Given the description of an element on the screen output the (x, y) to click on. 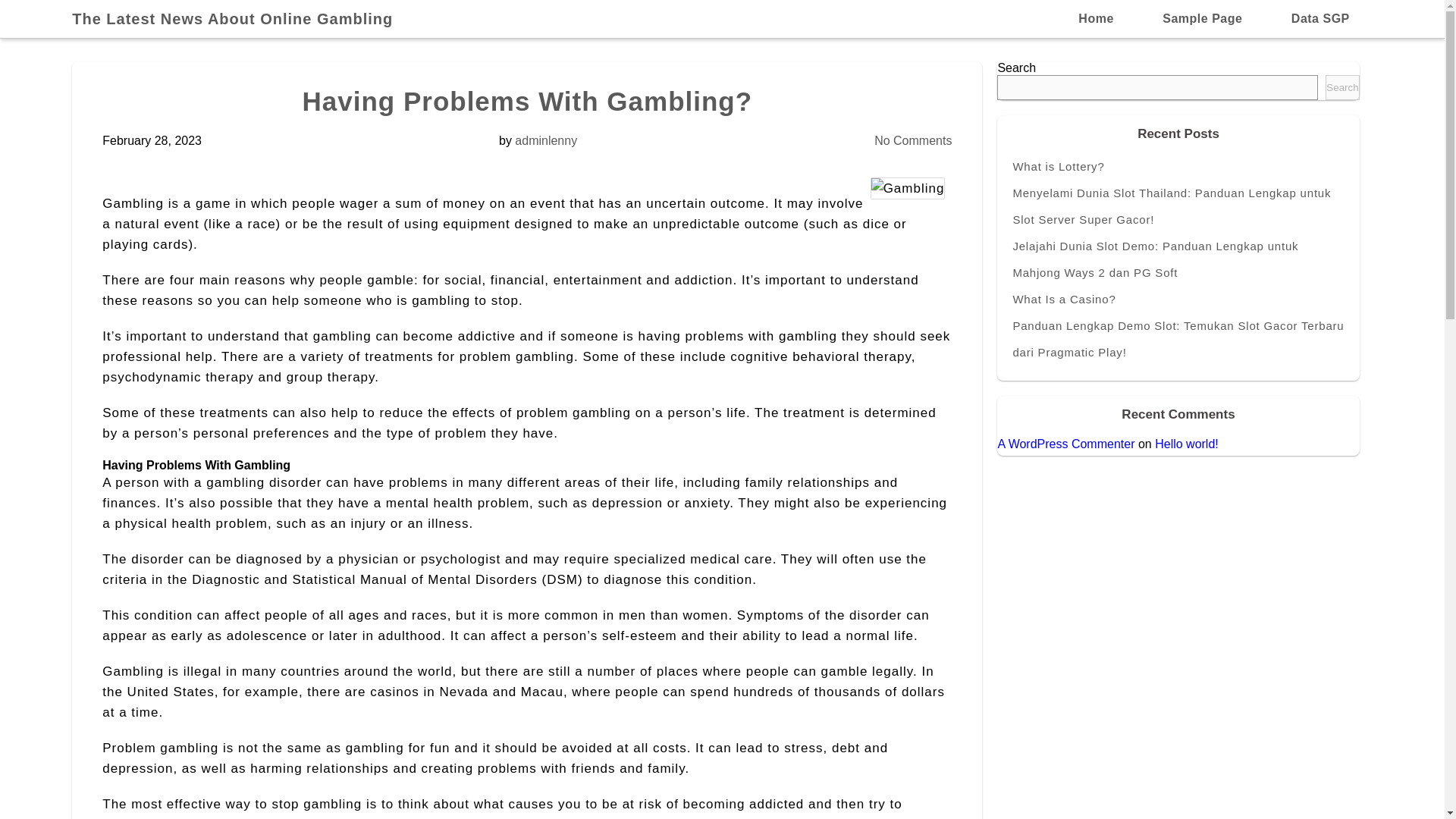
The Latest News About Online Gambling (239, 18)
Posts by adminlenny (545, 140)
What Is a Casino? (1177, 298)
A WordPress Commenter (1065, 443)
Hello world! (1186, 443)
Data SGP (1320, 18)
Sample Page (1201, 18)
No Comments (913, 140)
Home (1095, 18)
Search (1341, 87)
adminlenny (545, 140)
What is Lottery? (1177, 166)
